Given the description of an element on the screen output the (x, y) to click on. 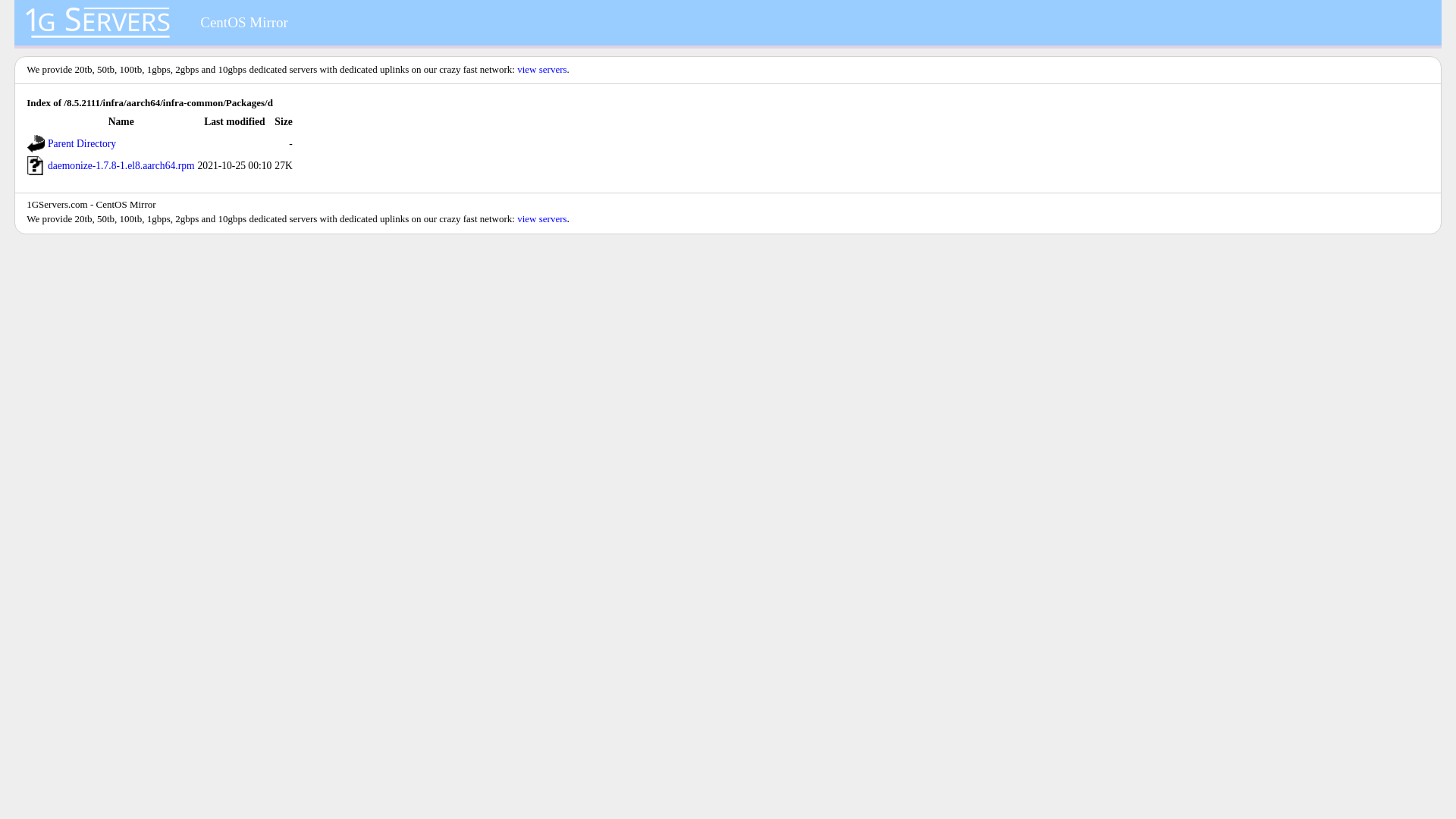
view servers Element type: text (541, 218)
view servers Element type: text (541, 69)
CentOS Mirror Element type: text (244, 22)
Parent Directory Element type: text (81, 143)
1GServers.com Element type: text (56, 204)
daemonize-1.7.8-1.el8.aarch64.rpm Element type: text (120, 165)
